Given the description of an element on the screen output the (x, y) to click on. 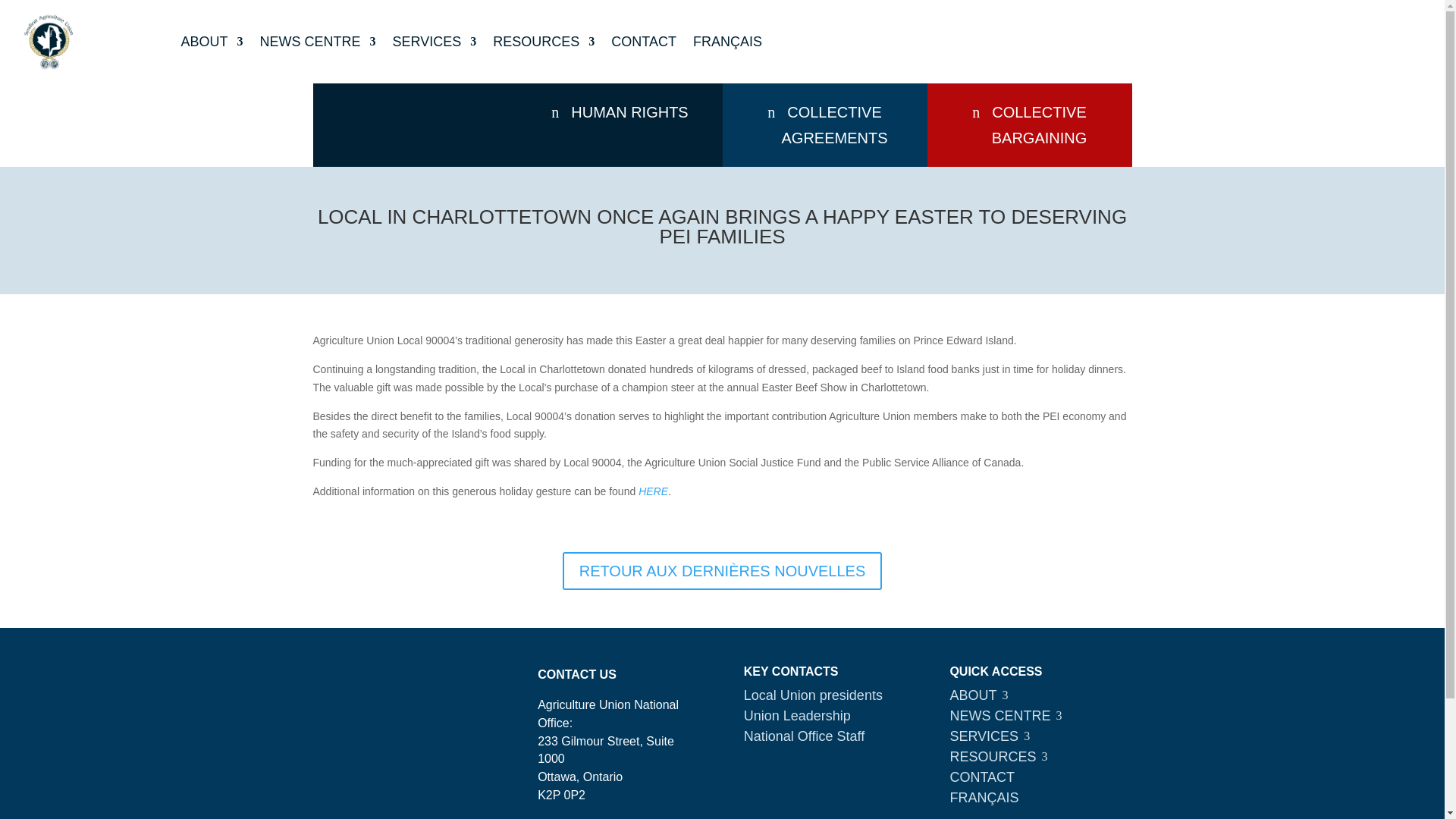
RESOURCES (543, 41)
CONTACT (644, 41)
NEWS CENTRE (317, 41)
SERVICES (435, 41)
ABOUT (211, 41)
